Given the description of an element on the screen output the (x, y) to click on. 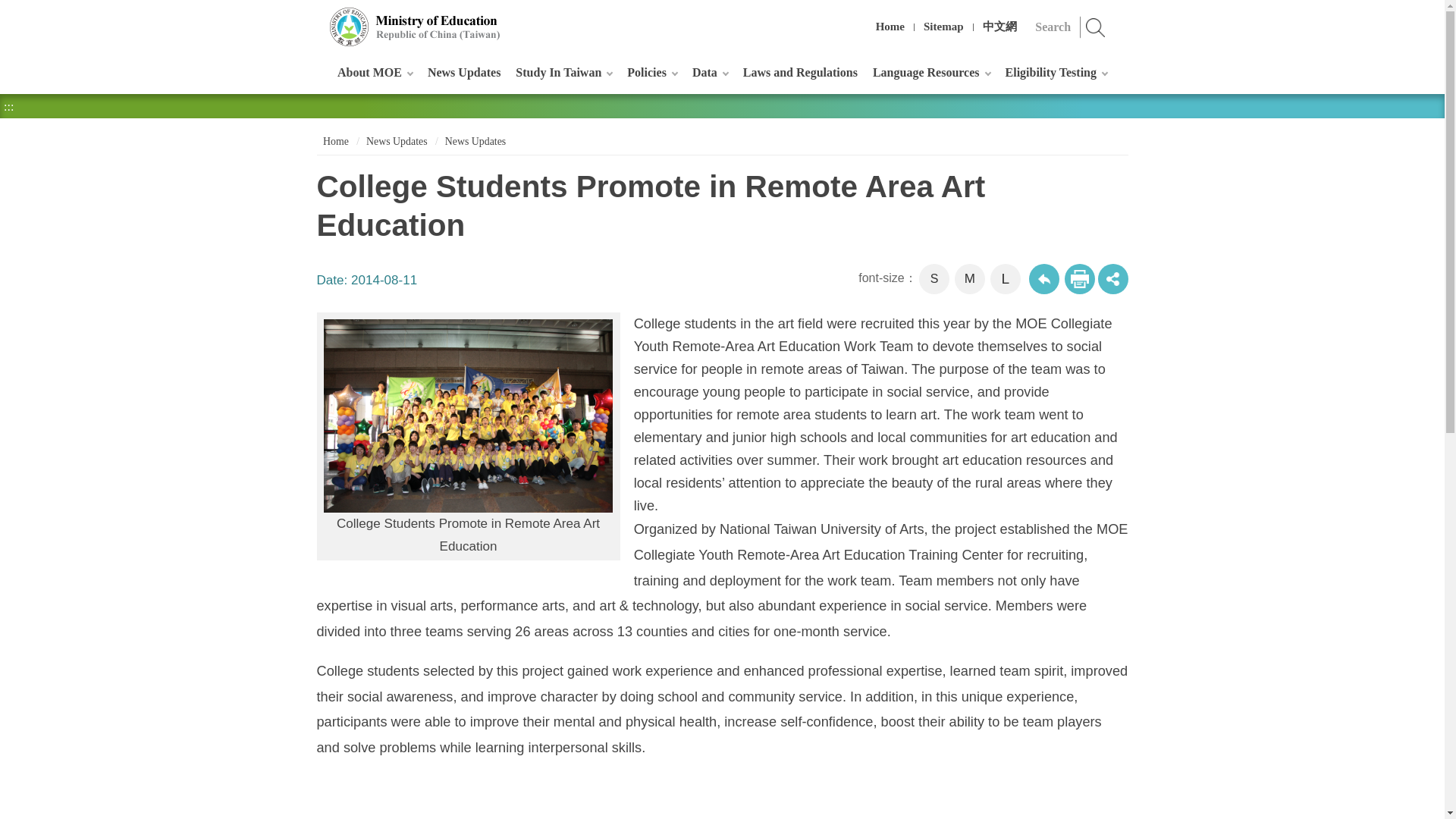
About MOE (375, 72)
search (1096, 26)
search (1096, 26)
Sitemap (943, 26)
About MOE (375, 72)
Study In Taiwan (563, 72)
Data (709, 72)
Study In Taiwan (563, 72)
Laws and Regulations (799, 72)
search (1096, 26)
News Updates (464, 72)
Sitemap (943, 26)
Home (890, 26)
Language Resources (930, 72)
Policies (651, 72)
